Given the description of an element on the screen output the (x, y) to click on. 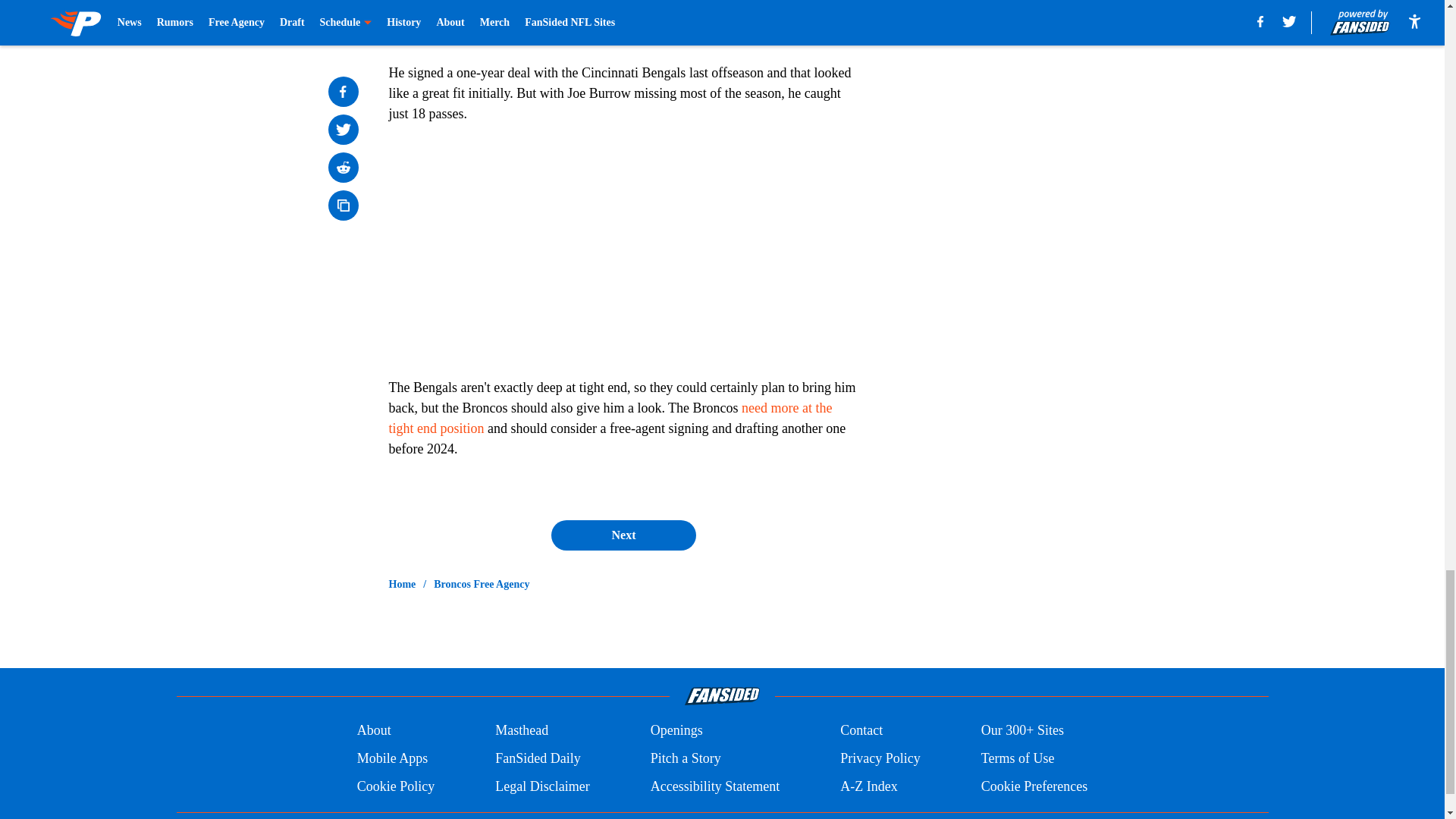
Broncos Free Agency (481, 584)
Openings (676, 730)
Next (622, 535)
About (373, 730)
Pitch a Story (685, 758)
Masthead (521, 730)
Home (401, 584)
Contact (861, 730)
FanSided Daily (537, 758)
Mobile Apps (392, 758)
need more at the tight end position (609, 417)
